Given the description of an element on the screen output the (x, y) to click on. 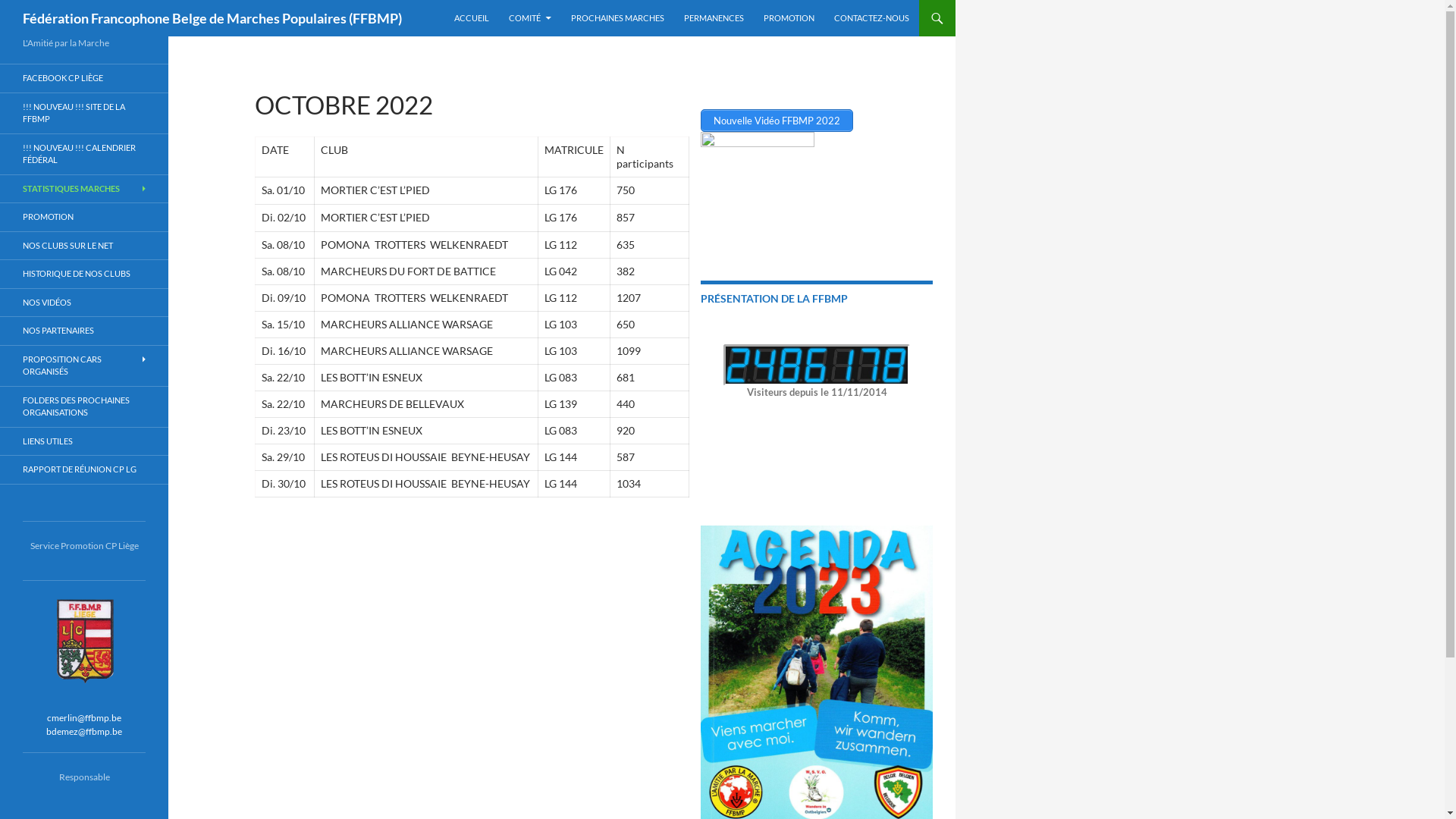
HISTORIQUE DE NOS CLUBS Element type: text (84, 274)
LIENS UTILES Element type: text (84, 441)
PROMOTION Element type: text (788, 18)
NOS CLUBS SUR LE NET Element type: text (84, 246)
PERMANENCES Element type: text (713, 18)
bdemez@ffbmp.be Element type: text (84, 730)
ACCUEIL Element type: text (471, 18)
CONTACTEZ-NOUS Element type: text (871, 18)
PROCHAINES MARCHES Element type: text (617, 18)
FOLDERS DES PROCHAINES ORGANISATIONS Element type: text (84, 406)
PROMOTION Element type: text (84, 217)
cmerlin@ffbmp.be Element type: text (84, 716)
!!! NOUVEAU !!! SITE DE LA FFBMP Element type: text (84, 112)
NOS PARTENAIRES Element type: text (84, 330)
STATISTIQUES MARCHES Element type: text (84, 188)
